Given the description of an element on the screen output the (x, y) to click on. 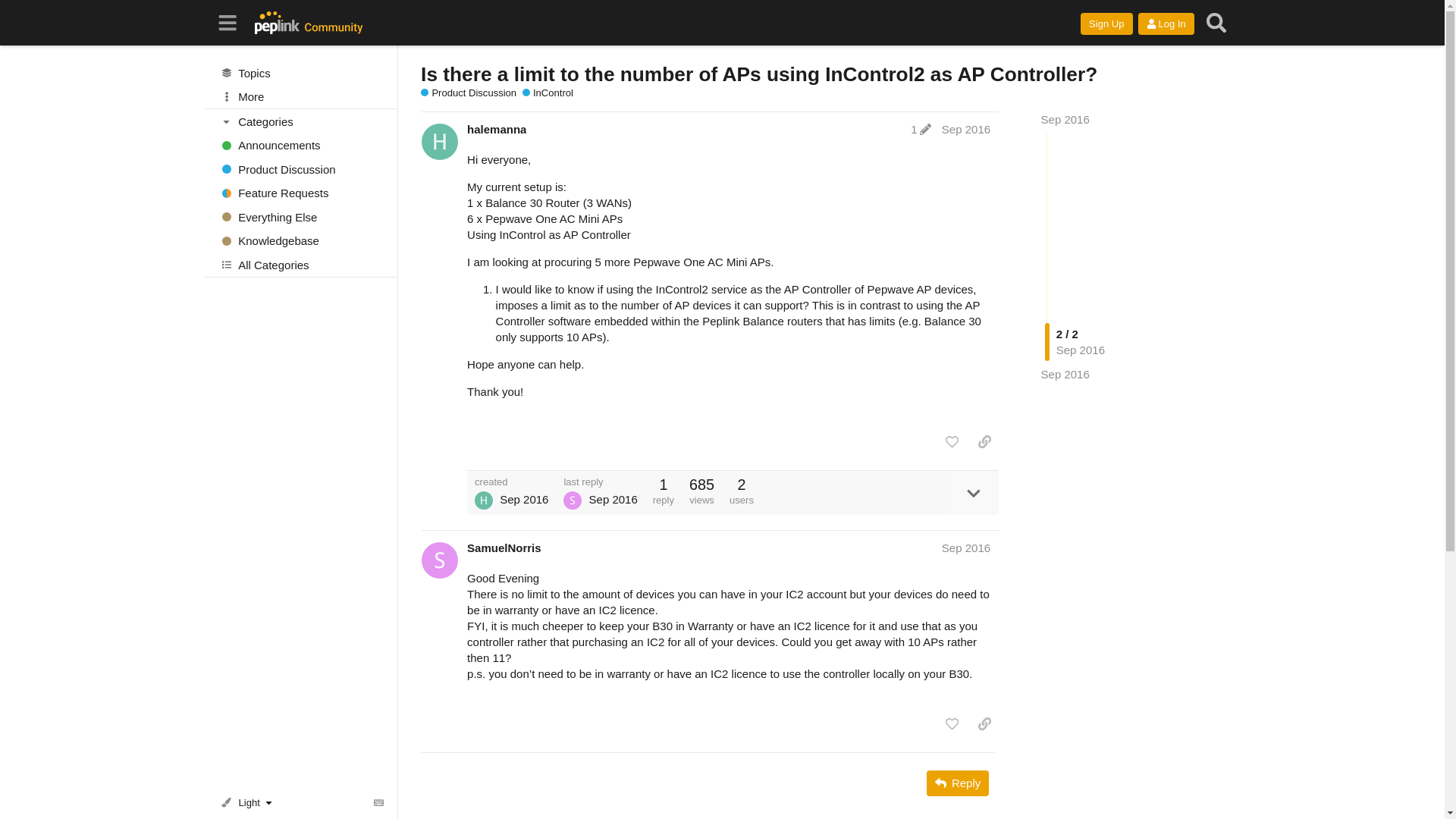
Toggle section (301, 120)
halemanna (496, 129)
Product Discussion (468, 92)
Feature Requests (301, 192)
Everything Else (301, 216)
Topics (301, 72)
